Given the description of an element on the screen output the (x, y) to click on. 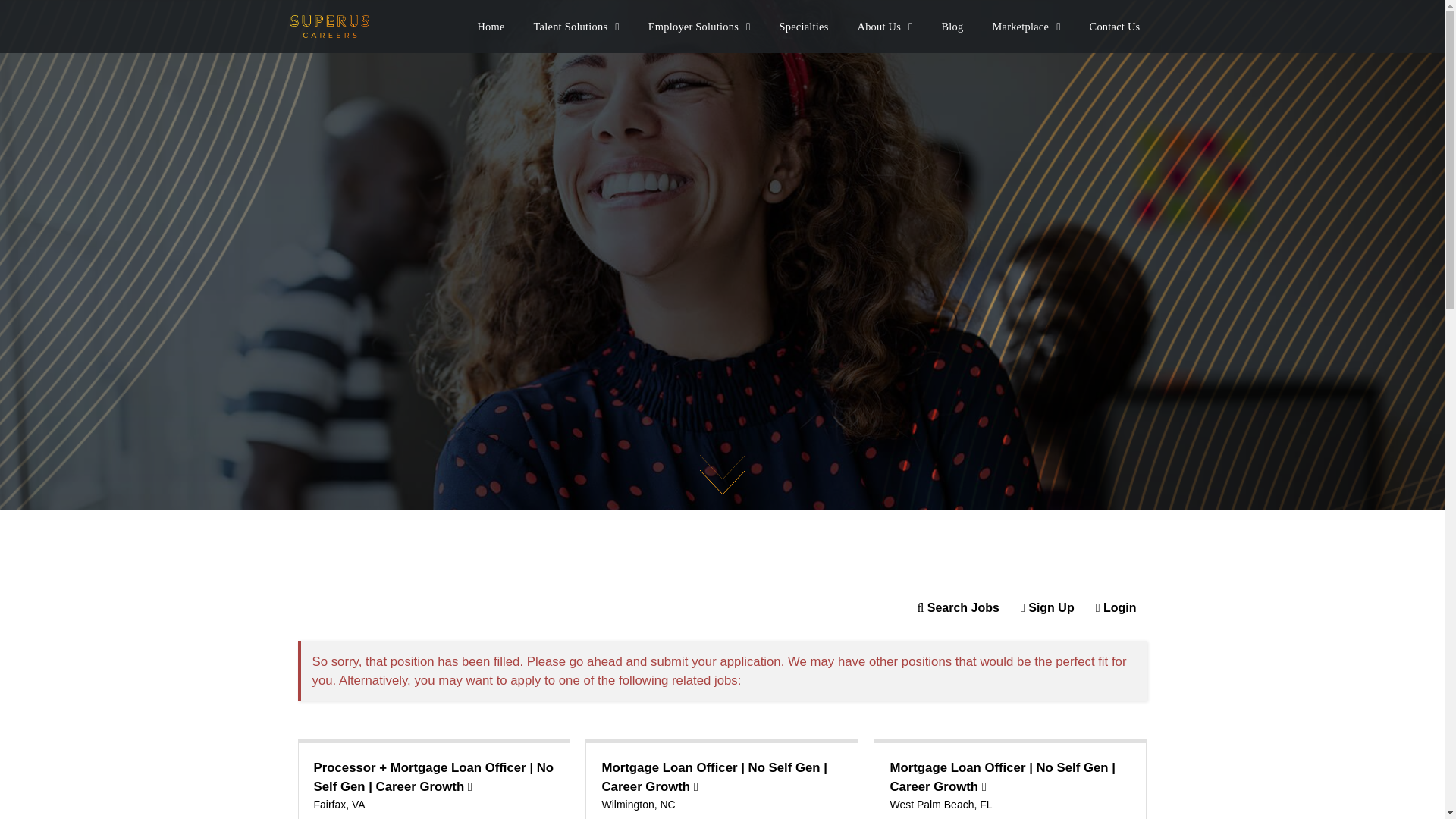
Talent Solutions (576, 26)
Home (490, 26)
Contact Us (1114, 26)
About Us (885, 26)
Blog (952, 26)
Specialties (803, 26)
Employer Solutions (699, 26)
Marketplace (1025, 26)
